Given the description of an element on the screen output the (x, y) to click on. 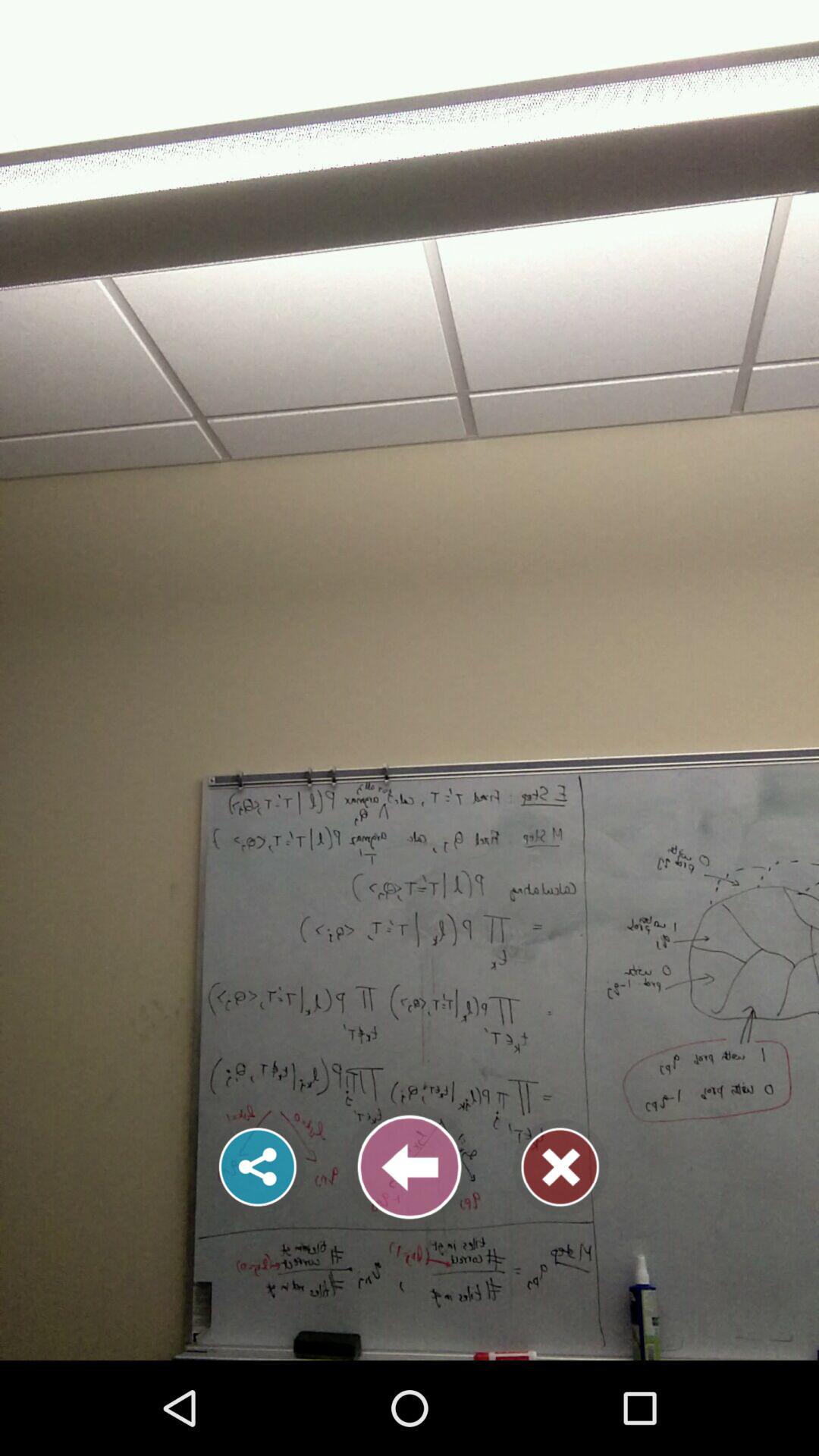
select remove botton (560, 1166)
